Given the description of an element on the screen output the (x, y) to click on. 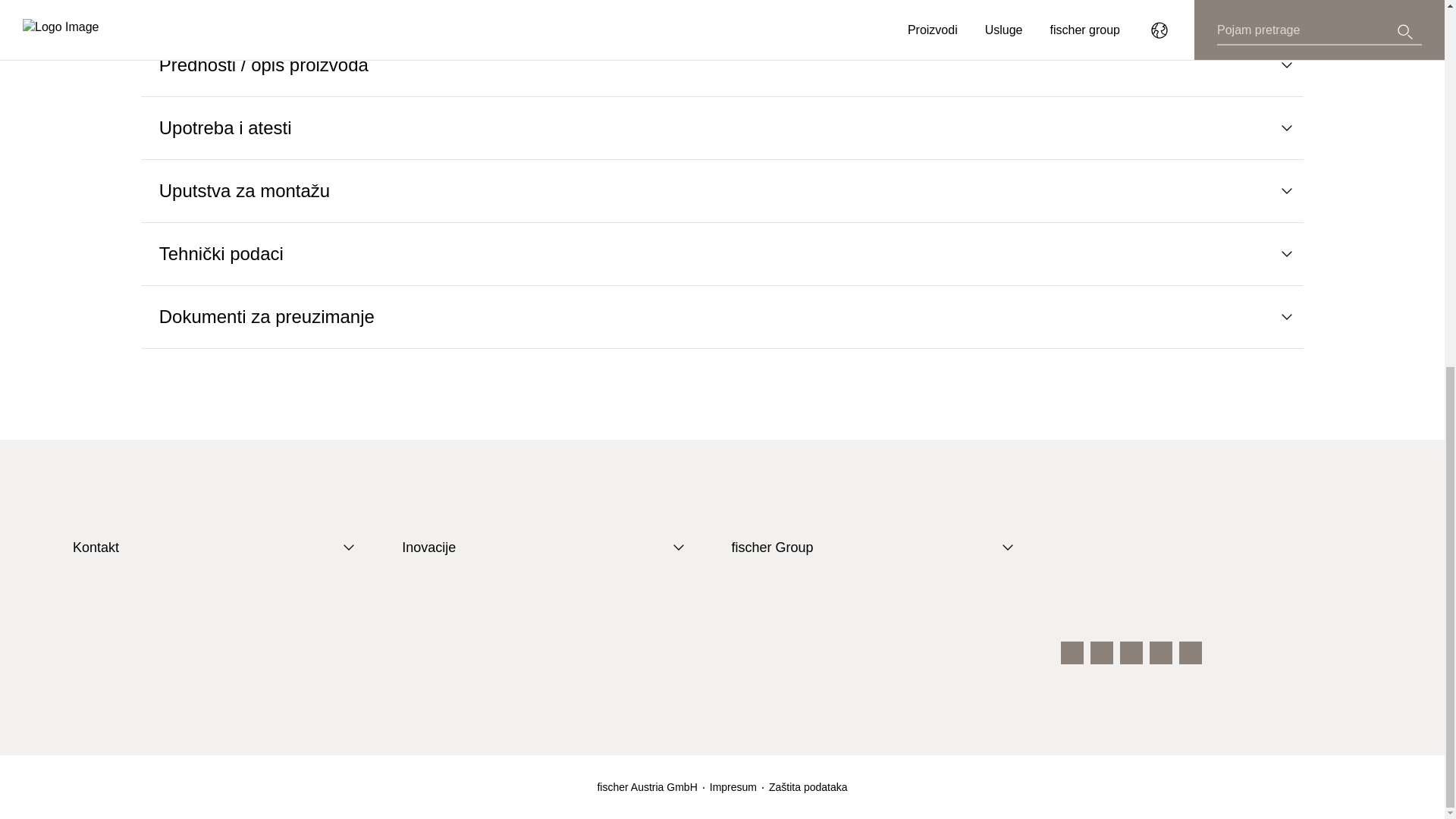
Impresum (733, 787)
